Given the description of an element on the screen output the (x, y) to click on. 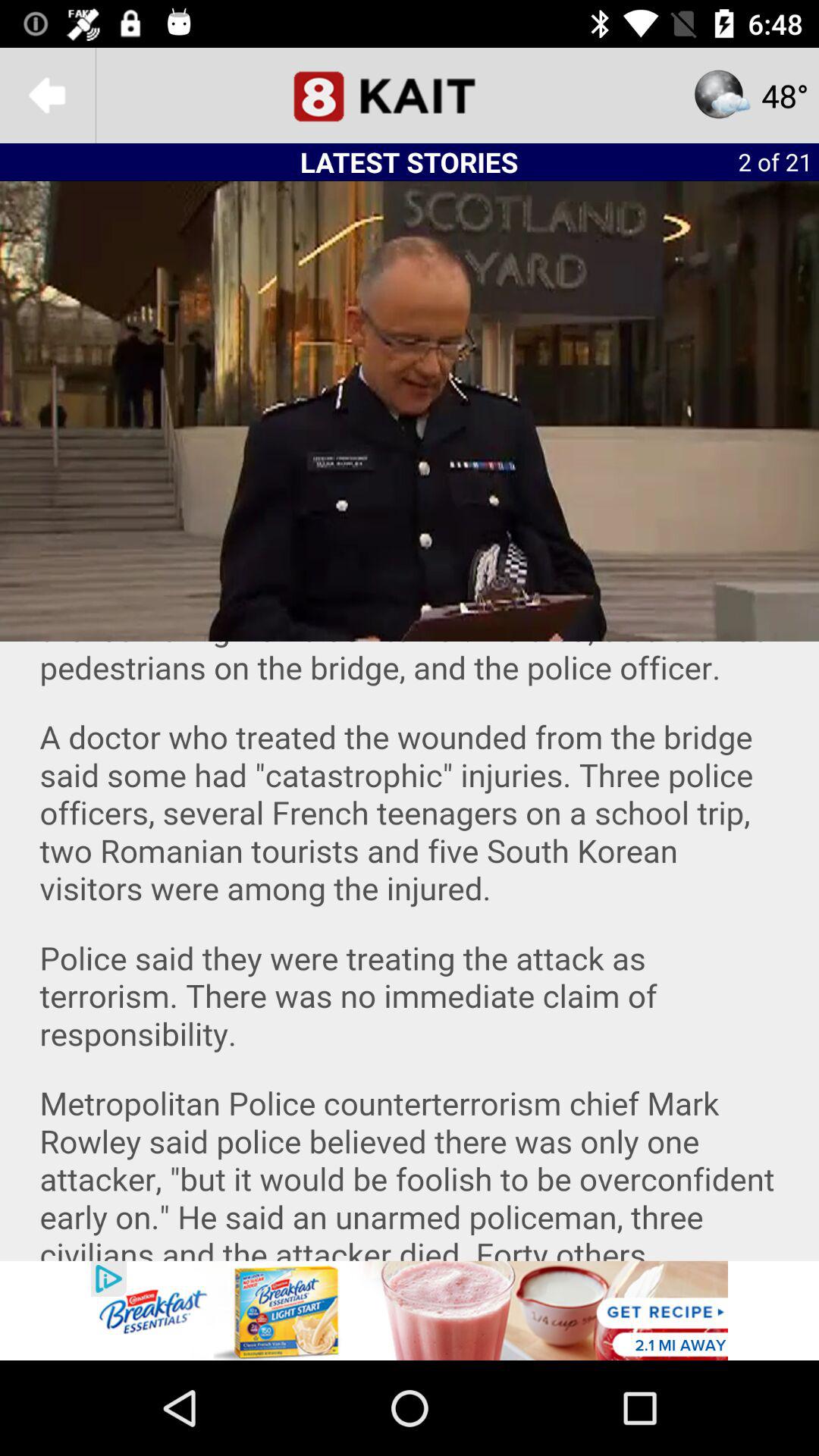
banner advertisement for breakfast essintials (409, 1310)
